Given the description of an element on the screen output the (x, y) to click on. 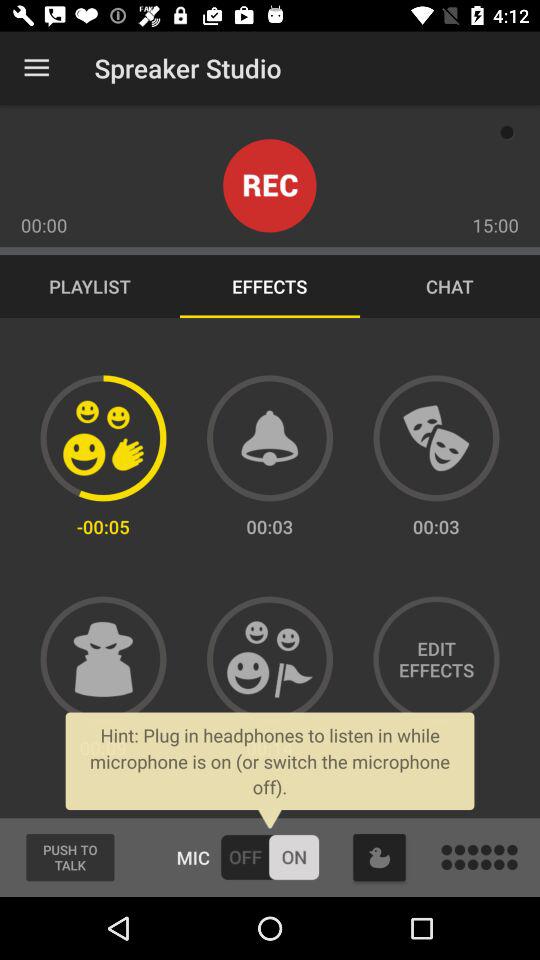
timer (270, 438)
